Given the description of an element on the screen output the (x, y) to click on. 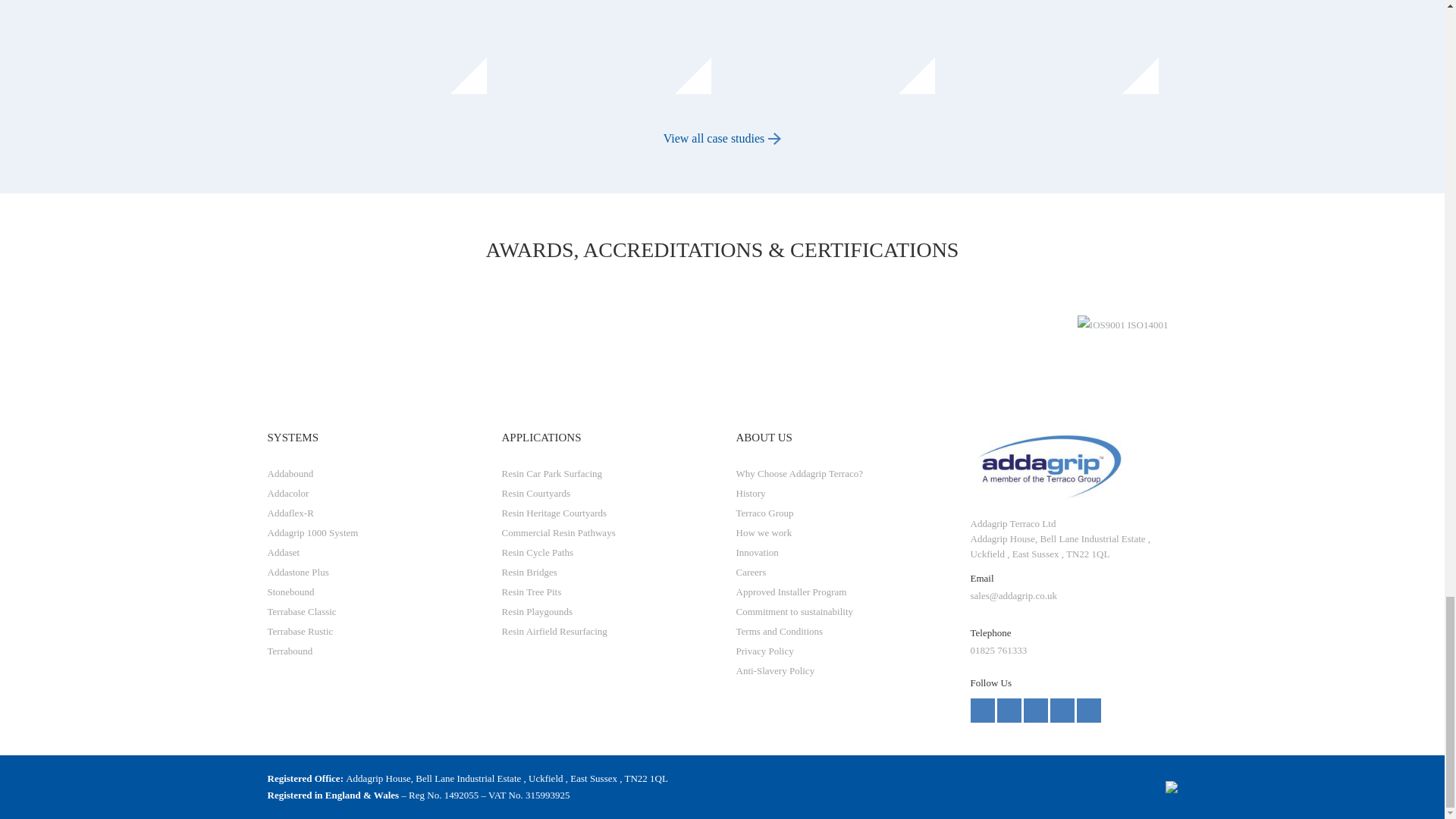
Constitution Hill Cycle Path (386, 48)
Liverpool Football Stadium (833, 48)
Scandia Hus Driveway (1057, 48)
Cool Garden RHS Rosemoor (609, 48)
